Given the description of an element on the screen output the (x, y) to click on. 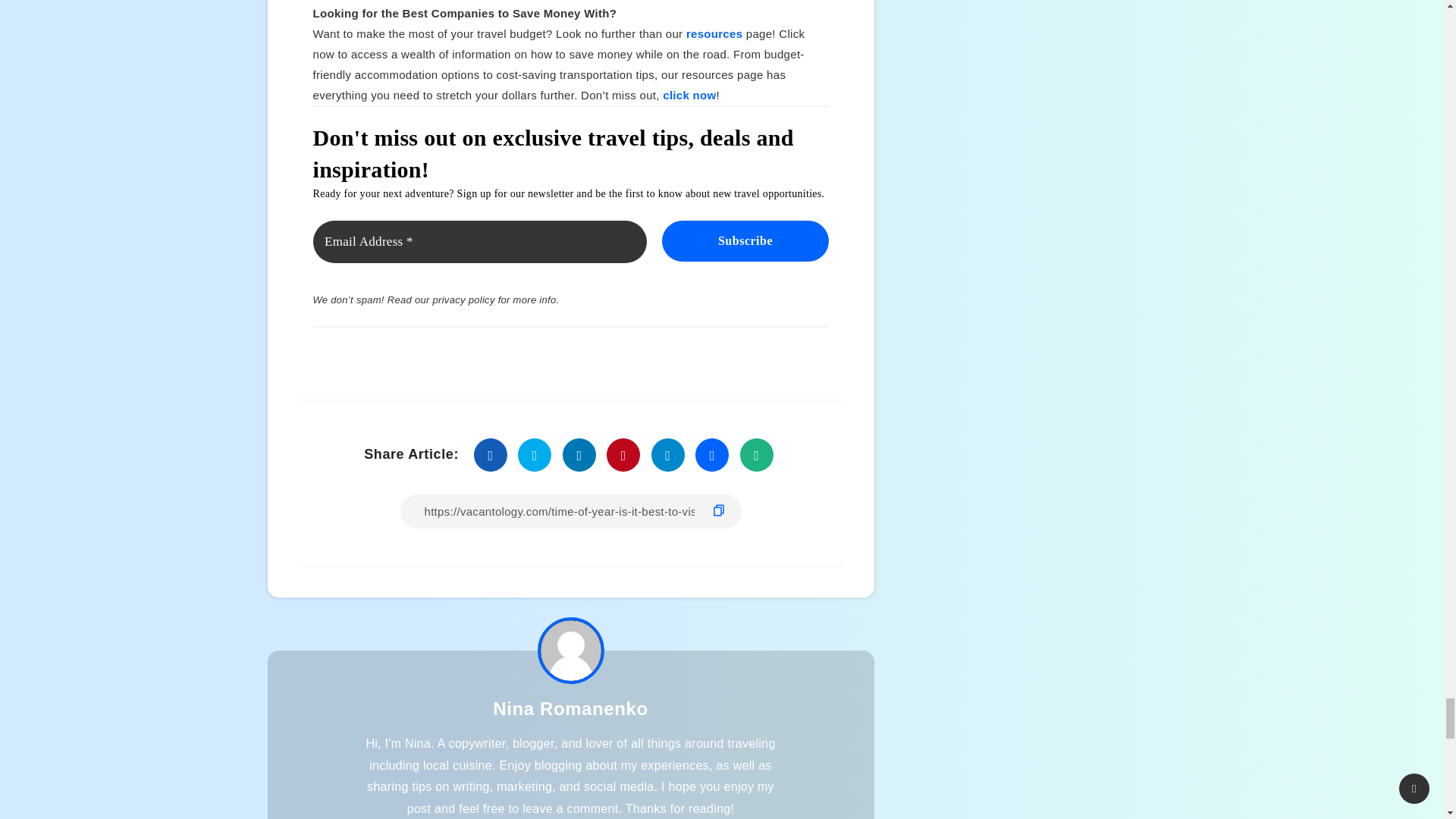
Subscribe (744, 240)
